Given the description of an element on the screen output the (x, y) to click on. 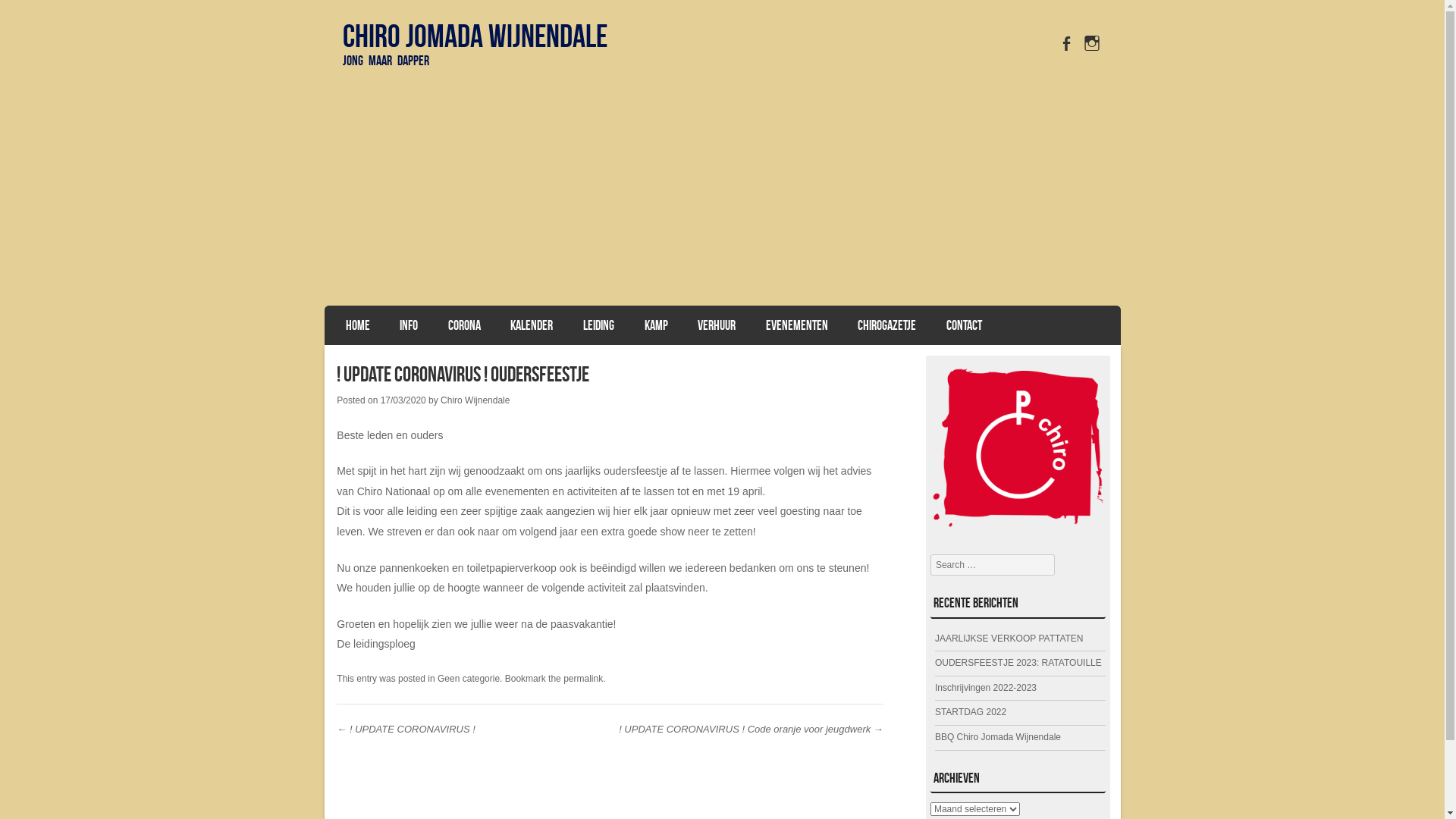
KALENDER Element type: text (531, 324)
Inschrijvingen 2022-2023 Element type: text (985, 687)
Chiro Jomada Wijnendale Element type: hover (722, 193)
CORONA Element type: text (464, 324)
INFO Element type: text (408, 324)
Chiro Wijnendale Element type: text (474, 400)
CONTACT Element type: text (964, 324)
STARTDAG 2022 Element type: text (970, 711)
HOME Element type: text (357, 324)
CHIROGAZETJE Element type: text (887, 324)
Geen categorie Element type: text (468, 678)
permalink Element type: text (582, 678)
Search Element type: text (33, 17)
BBQ Chiro Jomada Wijnendale Element type: text (997, 736)
LEIDING Element type: text (598, 324)
JAARLIJKSE VERKOOP PATTATEN Element type: text (1009, 638)
VERHUUR Element type: text (716, 324)
KAMP Element type: text (656, 324)
17/03/2020 Element type: text (403, 400)
SKIP TO CONTENT Element type: text (371, 321)
OUDERSFEESTJE 2023: RATATOUILLE Element type: text (1018, 662)
EVENEMENTEN Element type: text (796, 324)
Chiro Jomada Wijnendale Element type: text (474, 35)
